Given the description of an element on the screen output the (x, y) to click on. 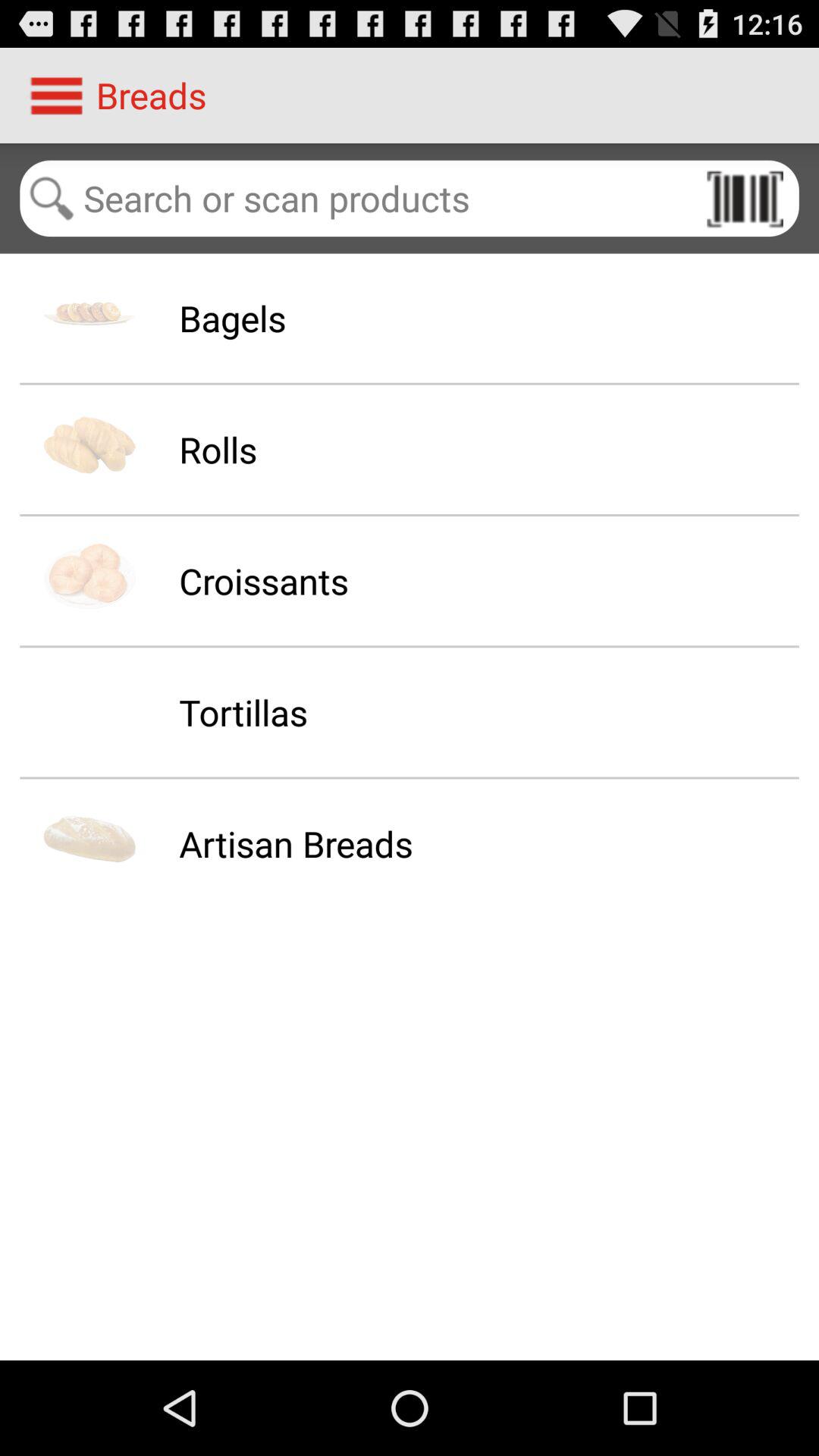
choose icon at the top right corner (744, 198)
